Given the description of an element on the screen output the (x, y) to click on. 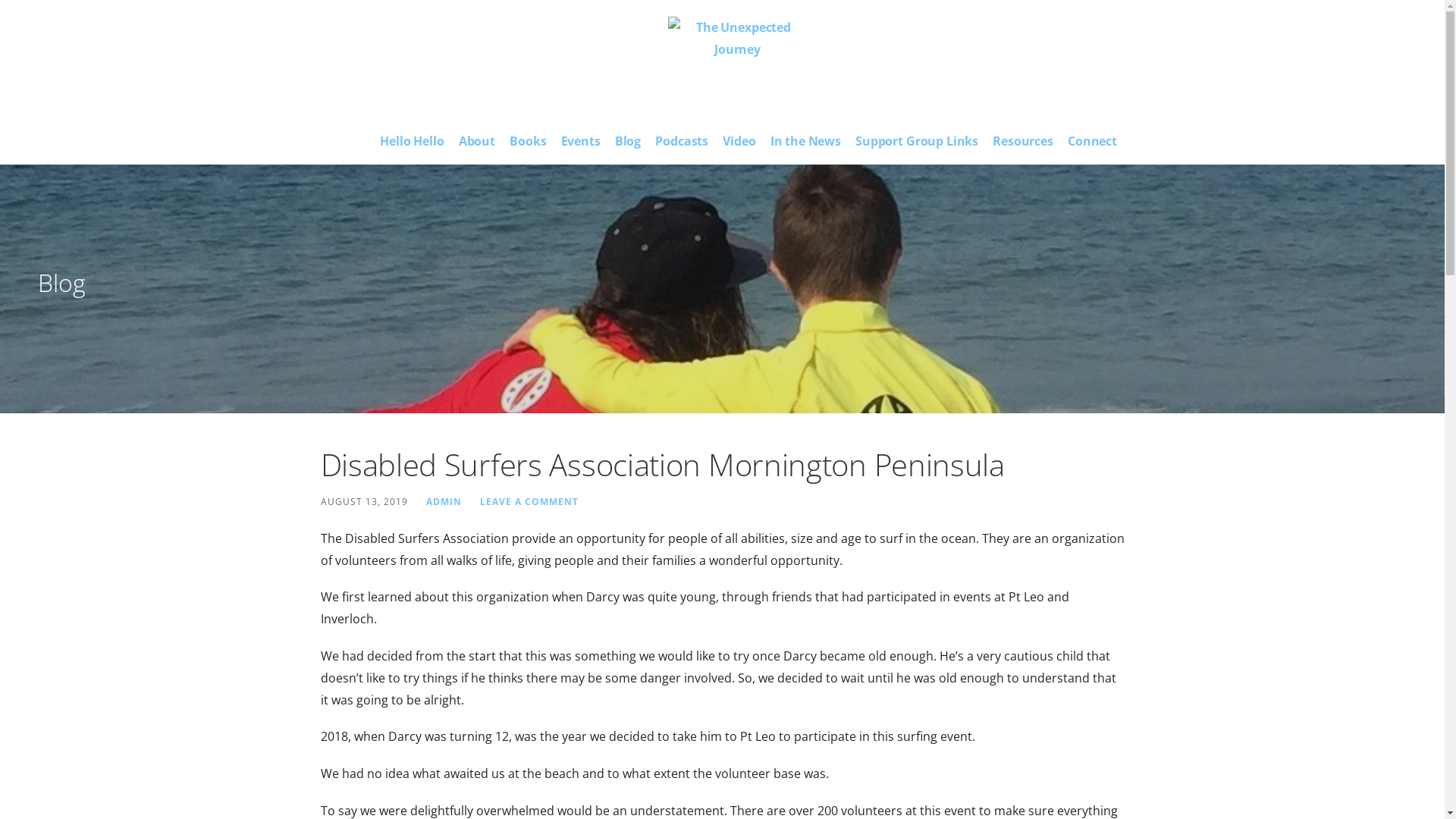
Podcasts Element type: text (681, 143)
Video Element type: text (738, 143)
Blog Element type: text (627, 143)
LEAVE A COMMENT Element type: text (528, 501)
About Element type: text (476, 143)
The Unexpected Journey Element type: text (494, 129)
Books Element type: text (527, 143)
Hello Hello Element type: text (411, 143)
Connect Element type: text (1092, 143)
Resources Element type: text (1022, 143)
ADMIN Element type: text (443, 501)
Support Group Links Element type: text (916, 143)
Events Element type: text (580, 143)
In the News Element type: text (805, 143)
